Given the description of an element on the screen output the (x, y) to click on. 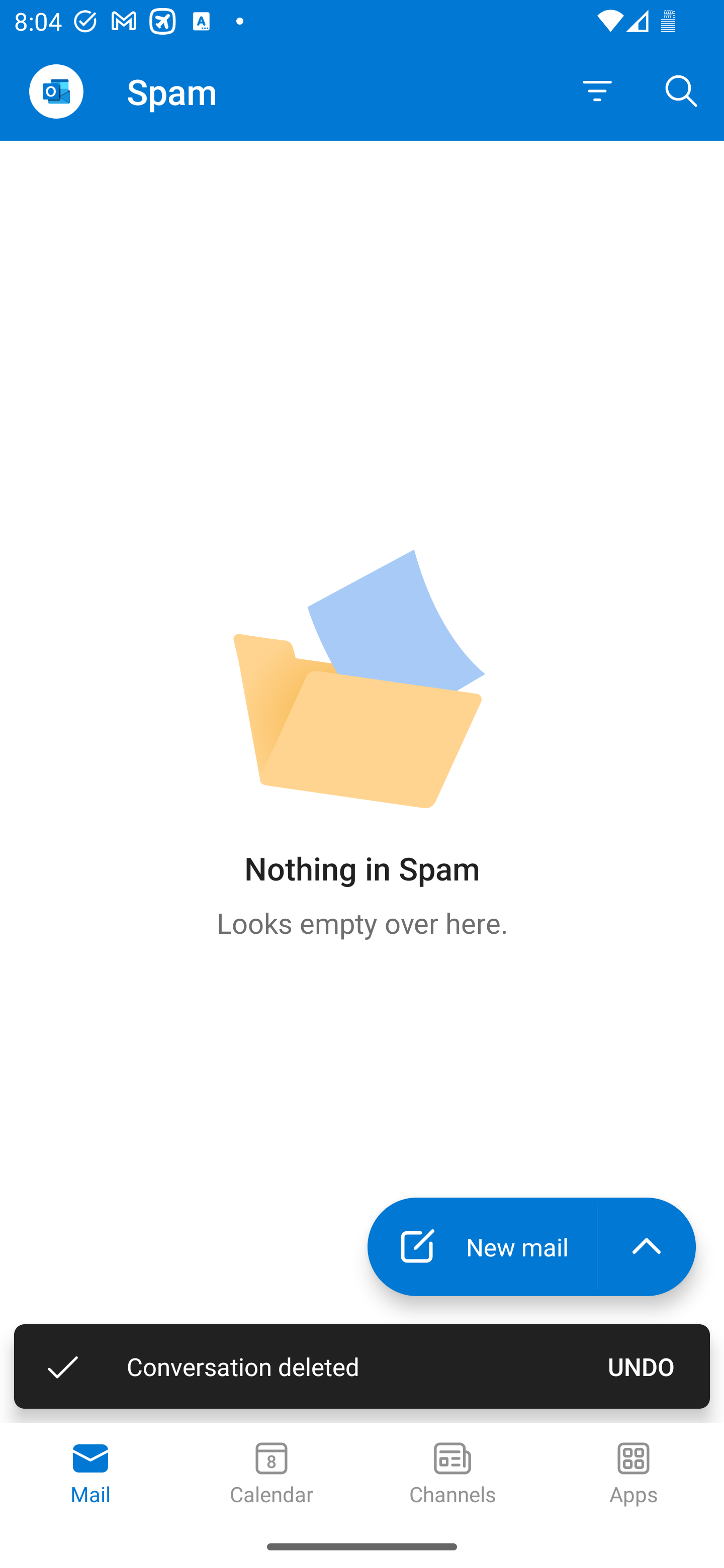
Search, ,  (681, 90)
Open Navigation Drawer (55, 91)
Filter (597, 91)
New mail (481, 1246)
launch the extended action menu (646, 1246)
UNDO (641, 1366)
Calendar (271, 1474)
Channels (452, 1474)
Apps (633, 1474)
